Given the description of an element on the screen output the (x, y) to click on. 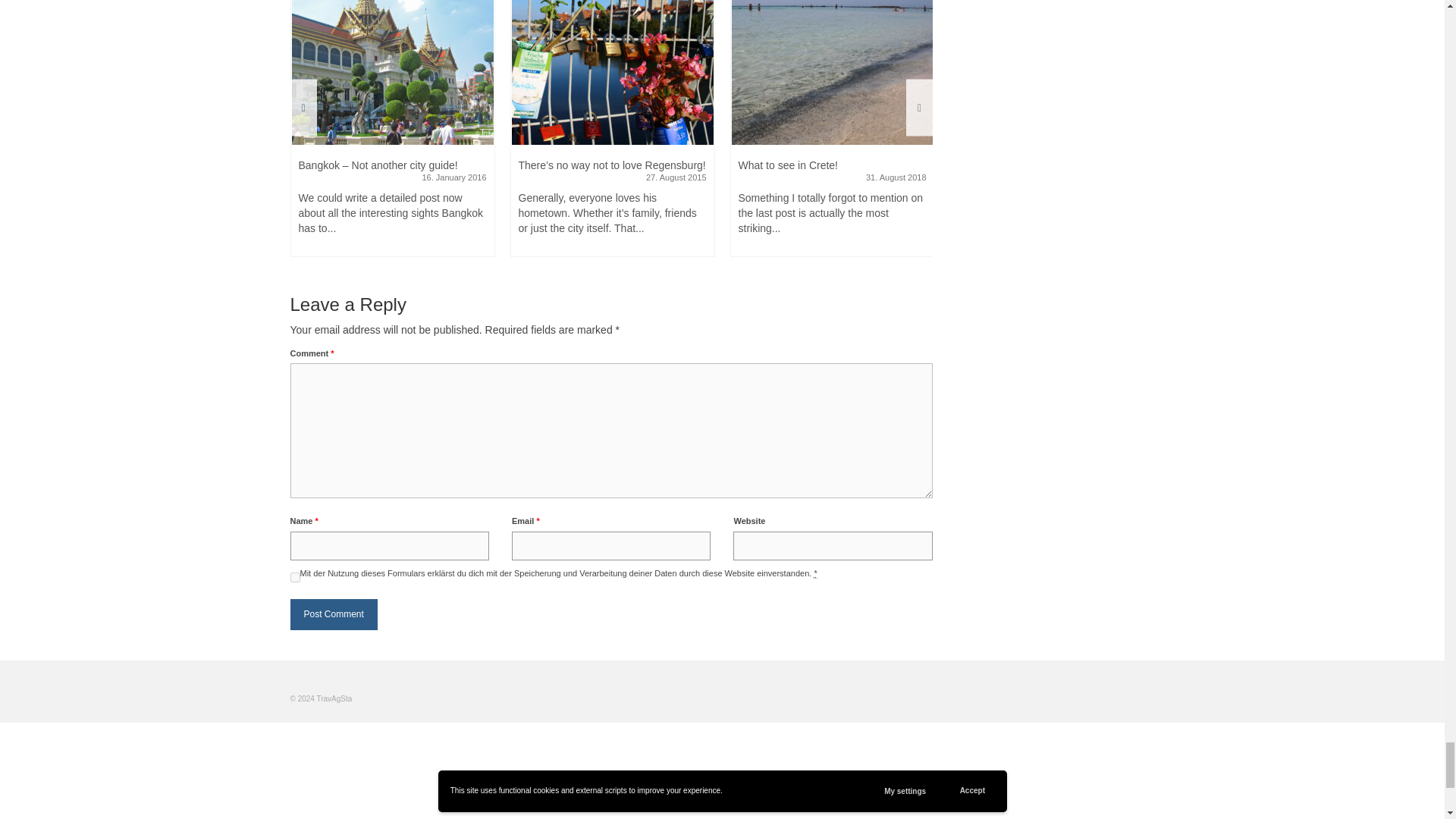
1 (294, 576)
Previous (302, 106)
What to see in Crete! (832, 72)
Post Comment (333, 613)
